Given the description of an element on the screen output the (x, y) to click on. 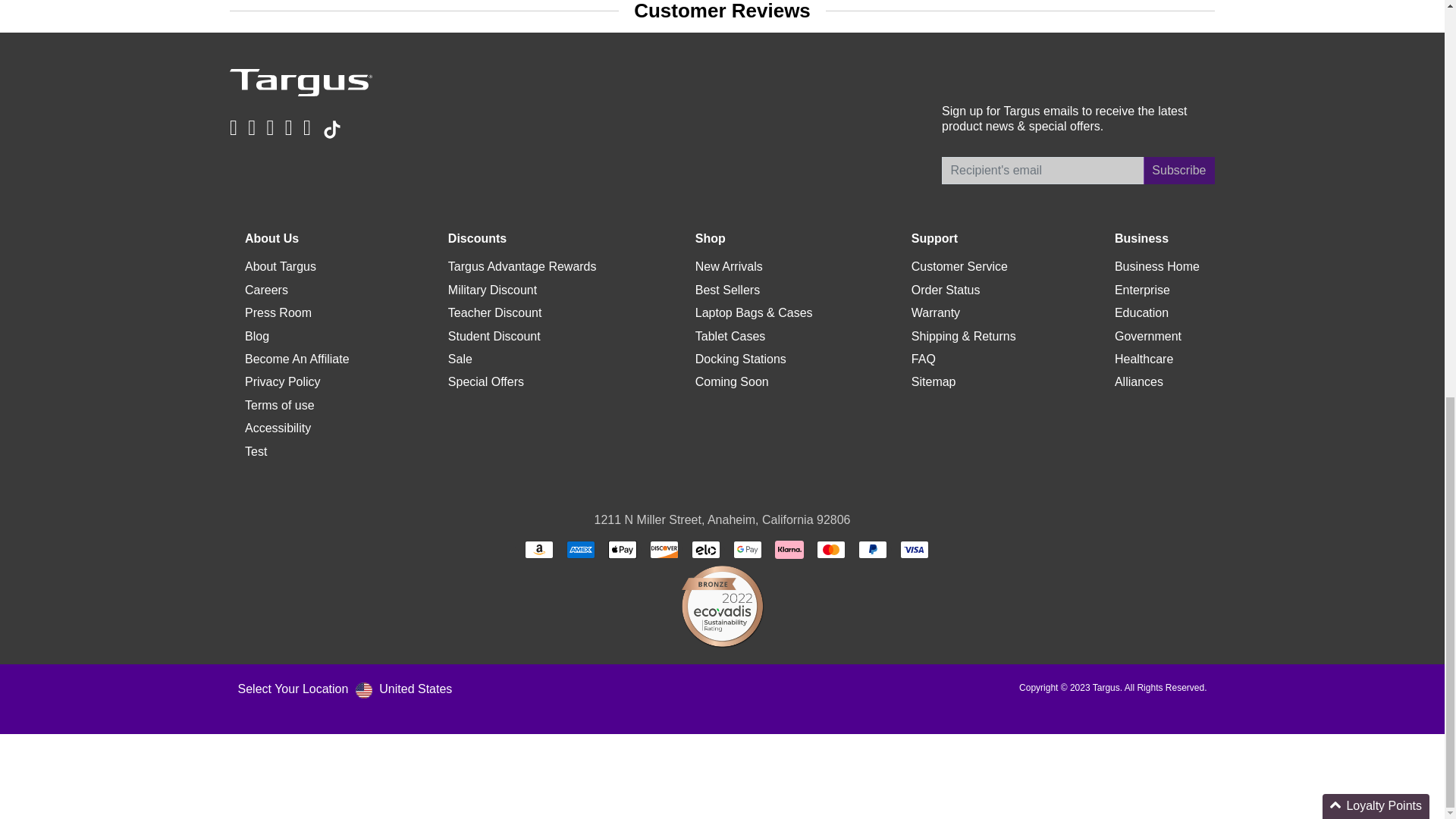
Google Pay (747, 549)
Klarna (788, 549)
PayPal (872, 549)
Amazon (538, 549)
American Express (580, 549)
Elo (705, 549)
Mastercard (830, 549)
Apple Pay (622, 549)
Discover (663, 549)
Visa (913, 549)
